Given the description of an element on the screen output the (x, y) to click on. 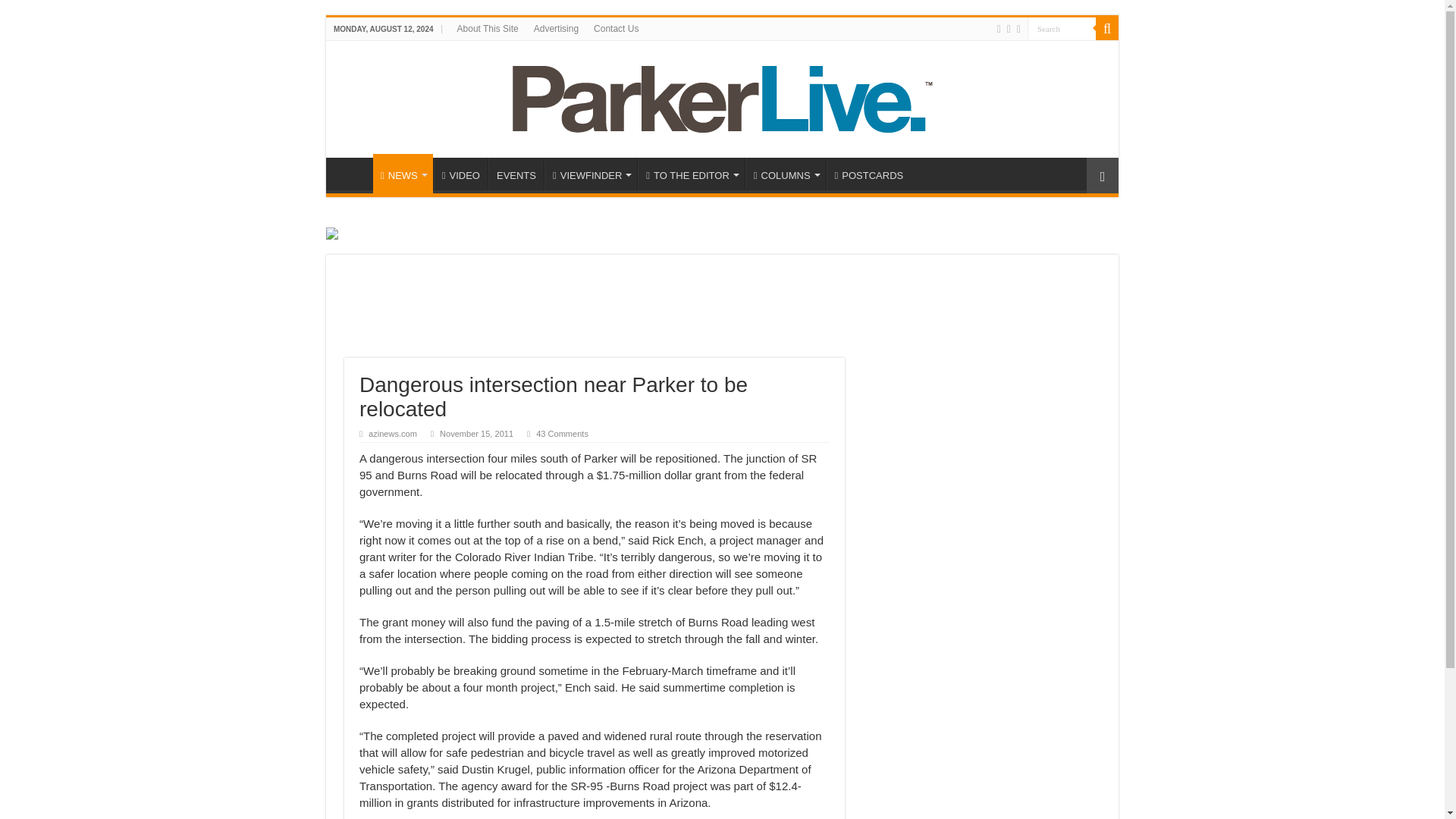
EVENTS (515, 173)
VIDEO (460, 173)
Contact Us (616, 28)
Search (1107, 28)
About This Site (487, 28)
Advertising (555, 28)
Search (1061, 28)
HOME (352, 173)
VIEWFINDER (590, 173)
Search (1061, 28)
